Given the description of an element on the screen output the (x, y) to click on. 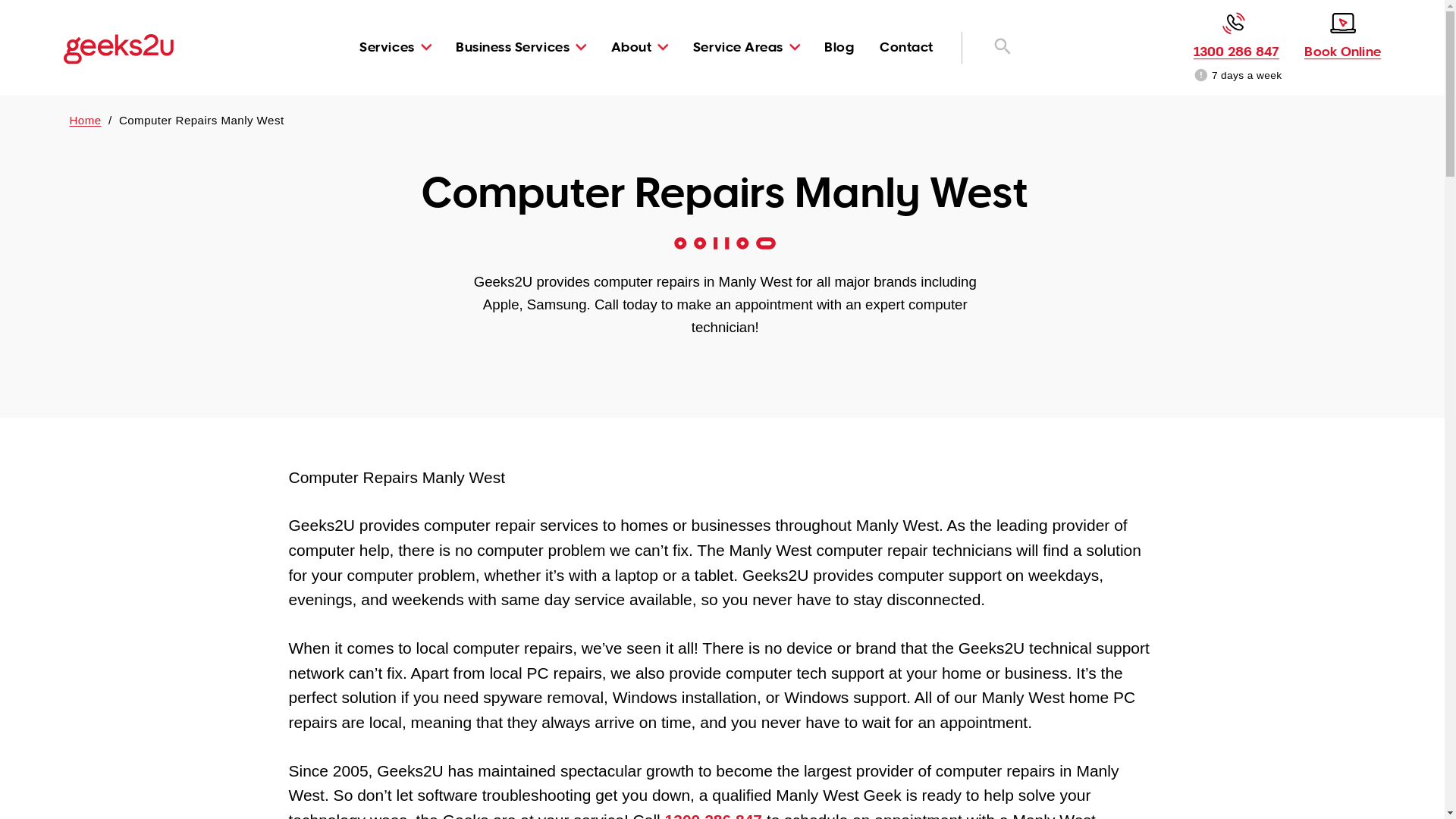
Our available hours Element type: hover (1201, 75)
About Element type: text (631, 46)
Submit Element type: text (616, 570)
1300 286 847 Element type: text (1236, 35)
Book Online Element type: text (1342, 35)
Contact Element type: text (906, 46)
Business Services Element type: text (512, 46)
Service Areas Element type: text (738, 46)
Blog Element type: text (838, 46)
Home Element type: text (85, 119)
Go to geeks2u.com.au Element type: hover (118, 48)
Services Element type: text (386, 46)
